Given the description of an element on the screen output the (x, y) to click on. 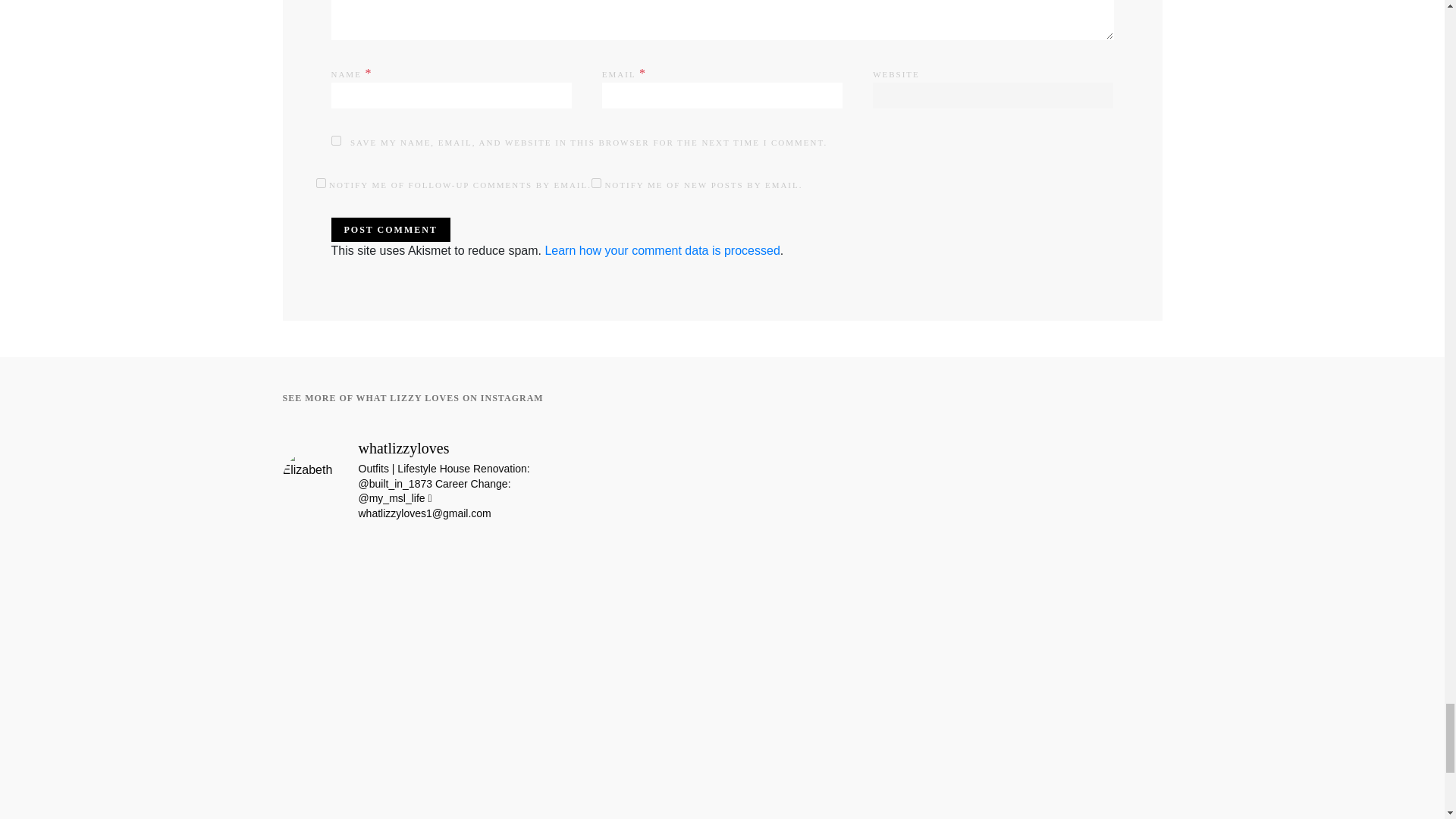
Post Comment (389, 229)
subscribe (319, 183)
yes (335, 140)
subscribe (596, 183)
